Given the description of an element on the screen output the (x, y) to click on. 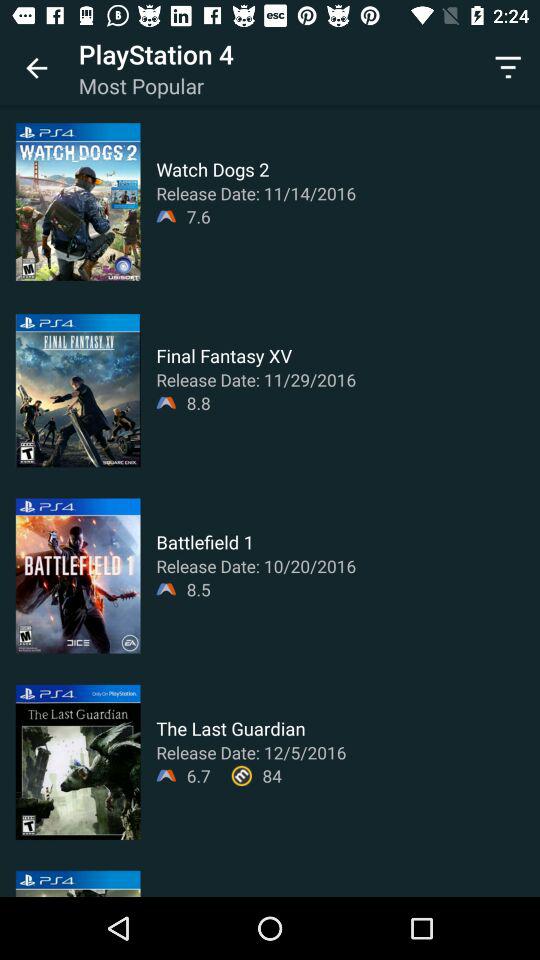
open the icon to the right of the playstation 4 icon (508, 67)
